Given the description of an element on the screen output the (x, y) to click on. 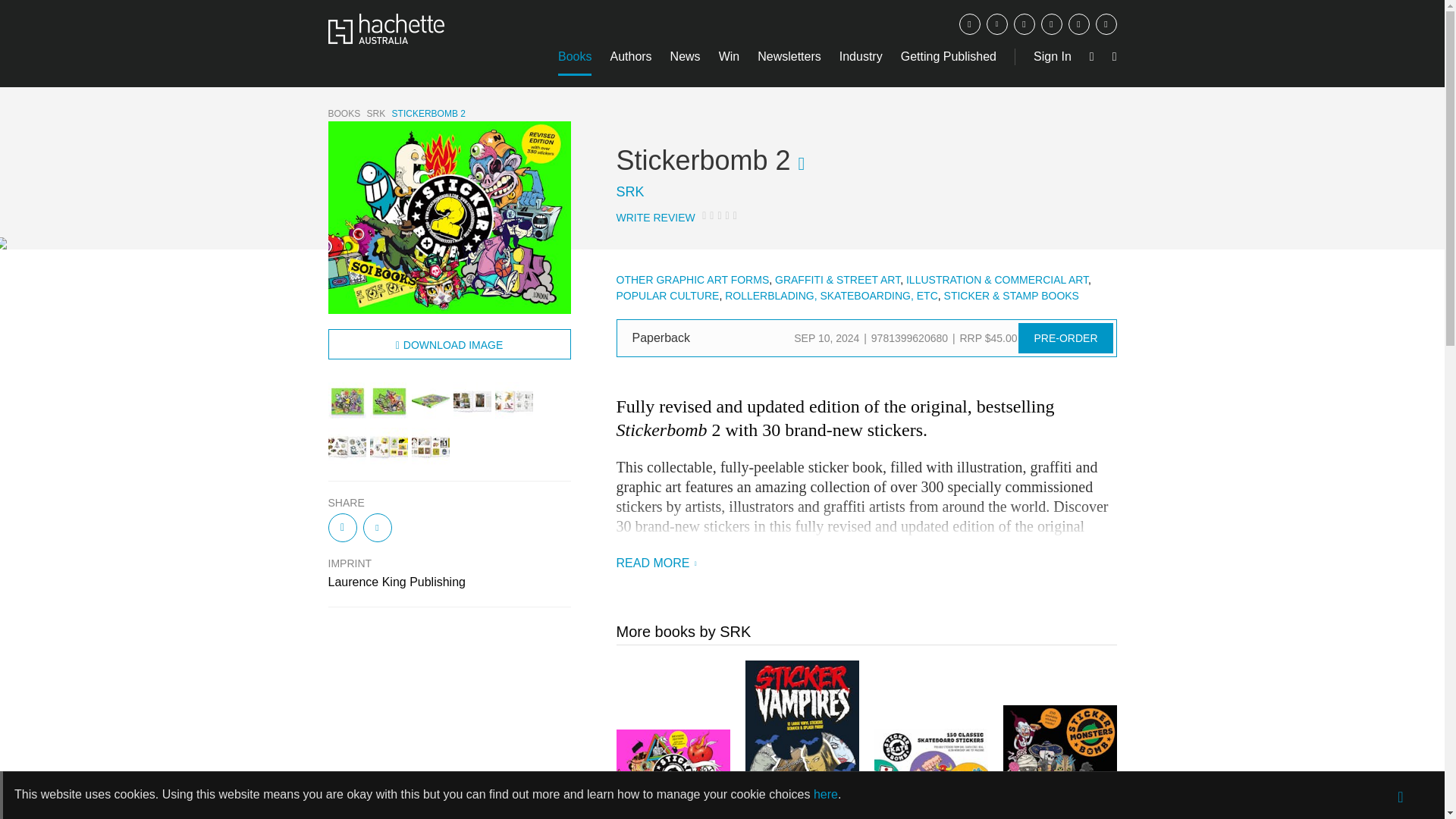
Linkedin (1105, 24)
Books (574, 56)
Twitter (996, 24)
Authors (630, 56)
Industry (861, 56)
YouTube (1078, 24)
Win (729, 56)
News (684, 56)
Email (1051, 24)
Newsletters (789, 56)
Facebook (968, 24)
Instagram (1023, 24)
Add to favourites (801, 163)
